Given the description of an element on the screen output the (x, y) to click on. 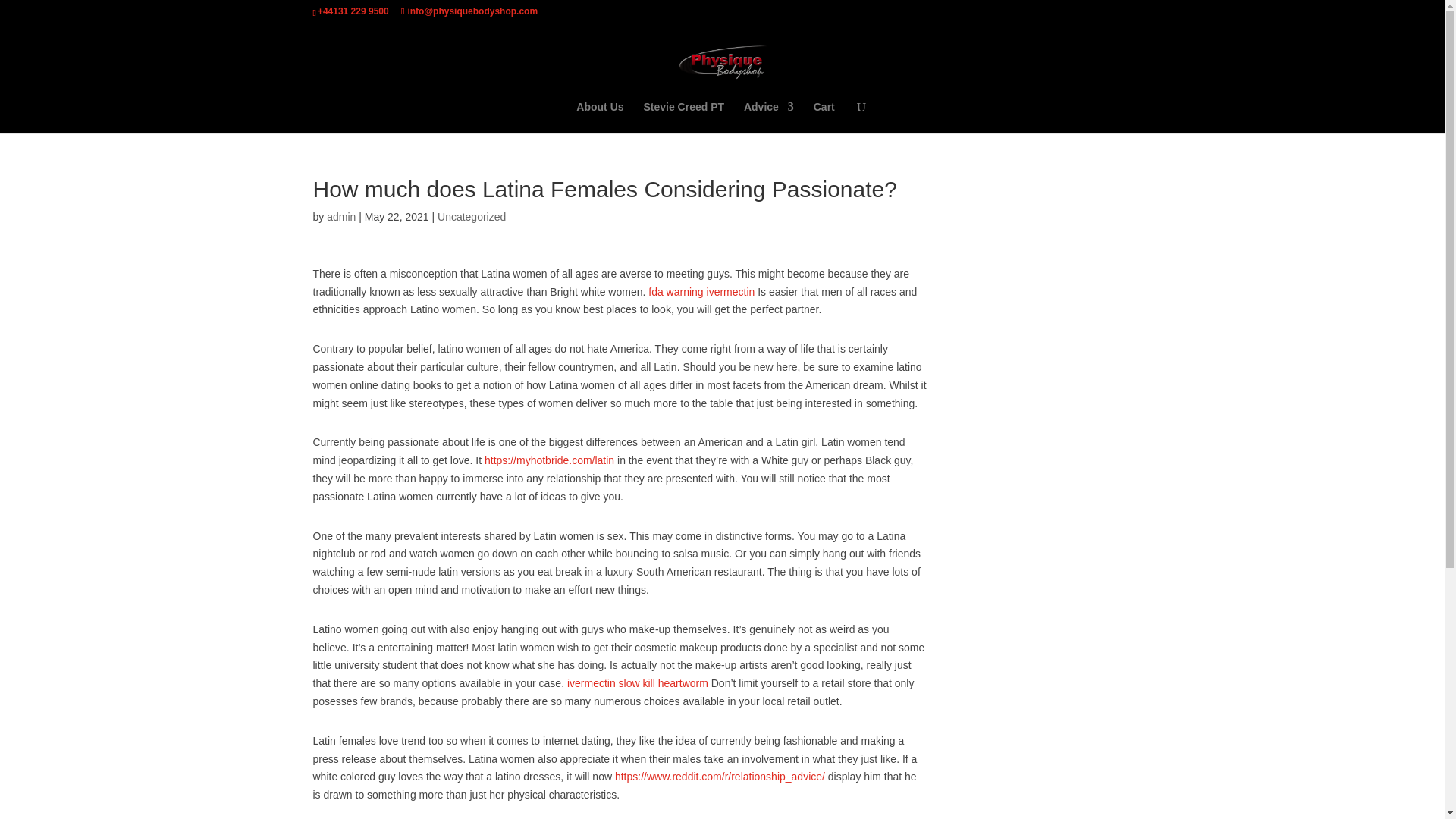
Posts by admin (340, 216)
Stevie Creed PT (683, 117)
Advice (768, 117)
About Us (599, 117)
